Given the description of an element on the screen output the (x, y) to click on. 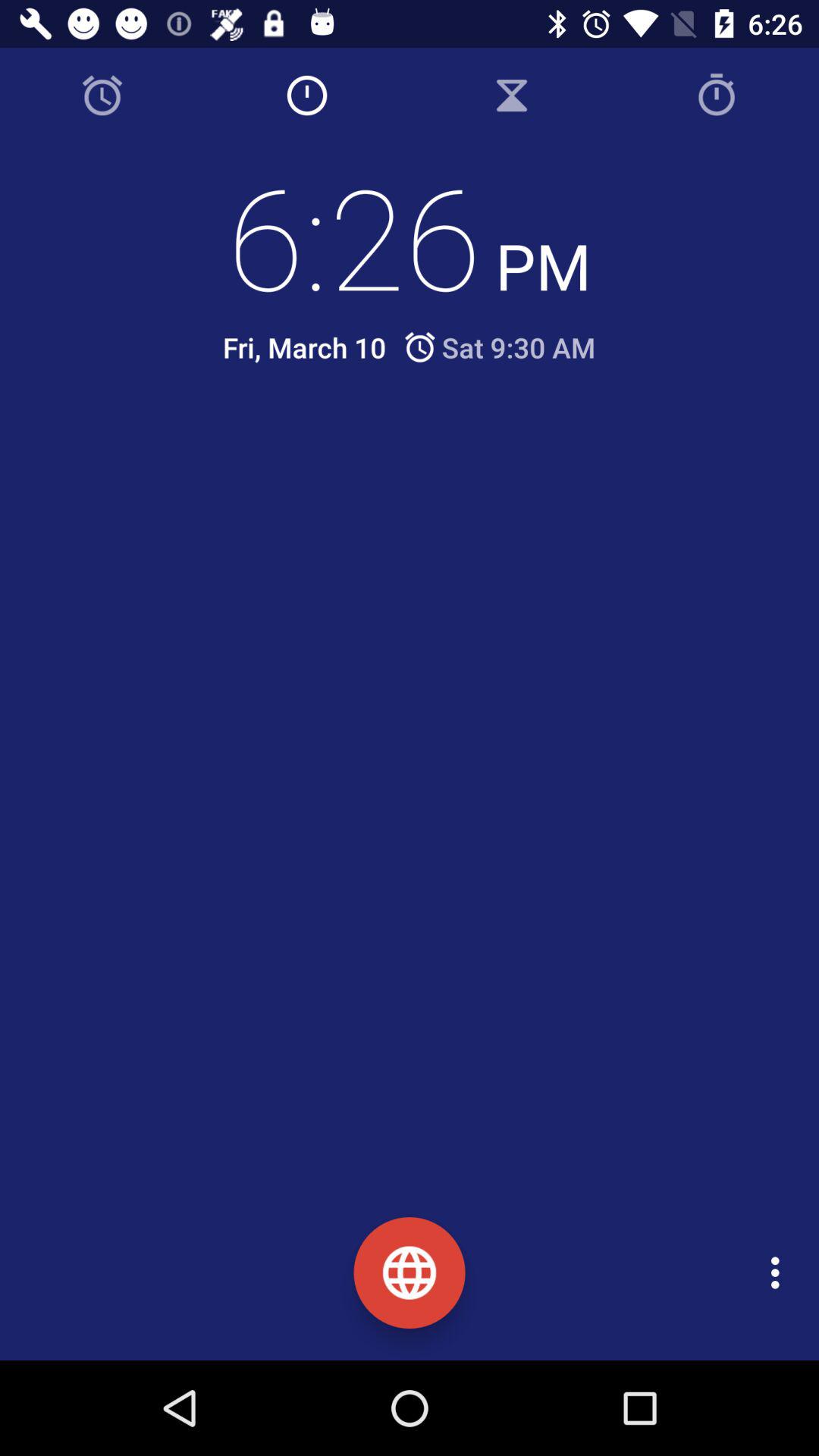
select the icon next to sat 9 30 (304, 347)
